Given the description of an element on the screen output the (x, y) to click on. 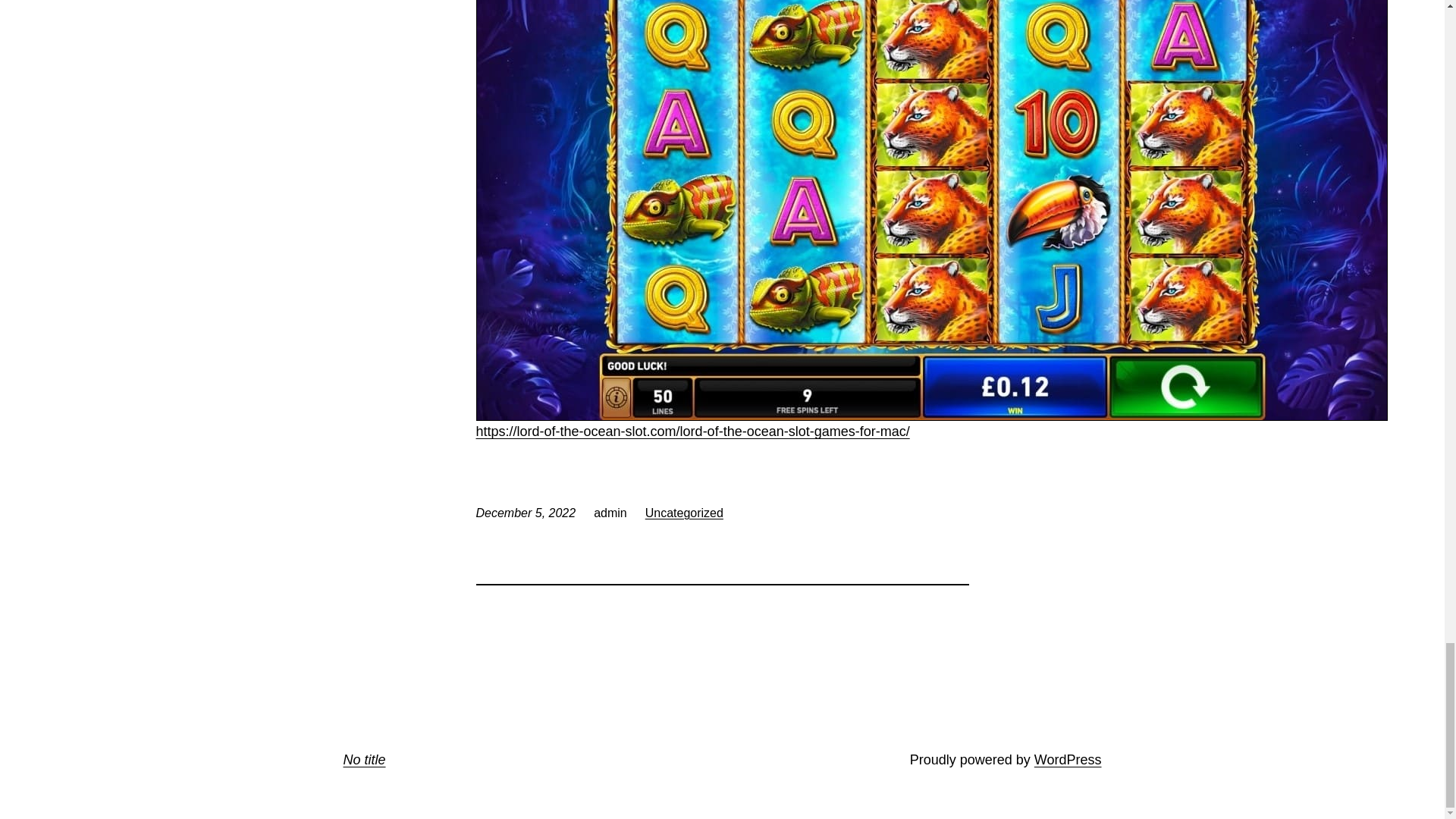
WordPress (1067, 759)
No title (363, 759)
Uncategorized (684, 512)
